Given the description of an element on the screen output the (x, y) to click on. 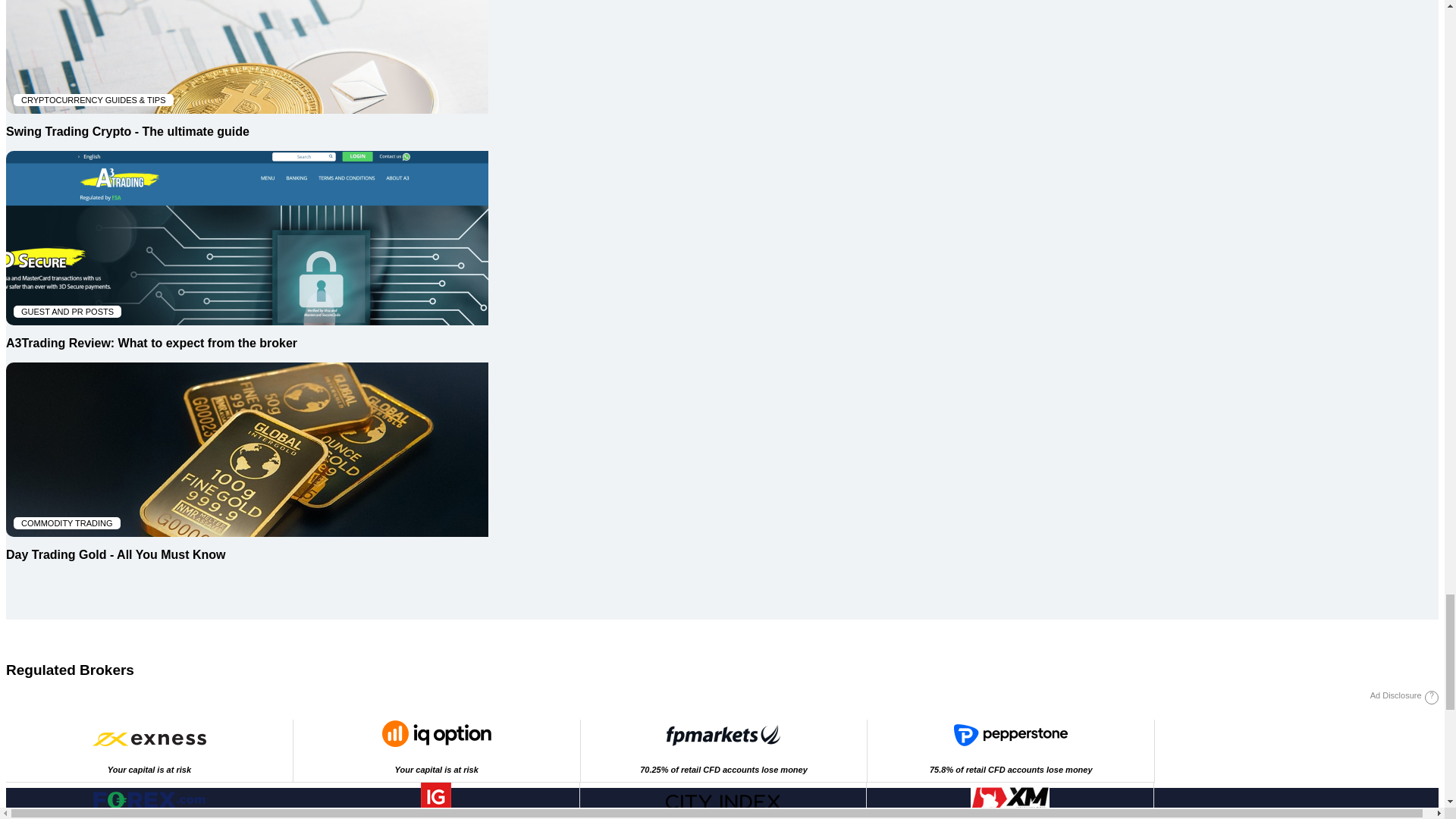
IG (435, 795)
Day Trading Gold - All You Must Know (246, 470)
CityIndex (721, 801)
XM (1010, 734)
A3Trading Review: What to expect from the broker (1010, 796)
